Given the description of an element on the screen output the (x, y) to click on. 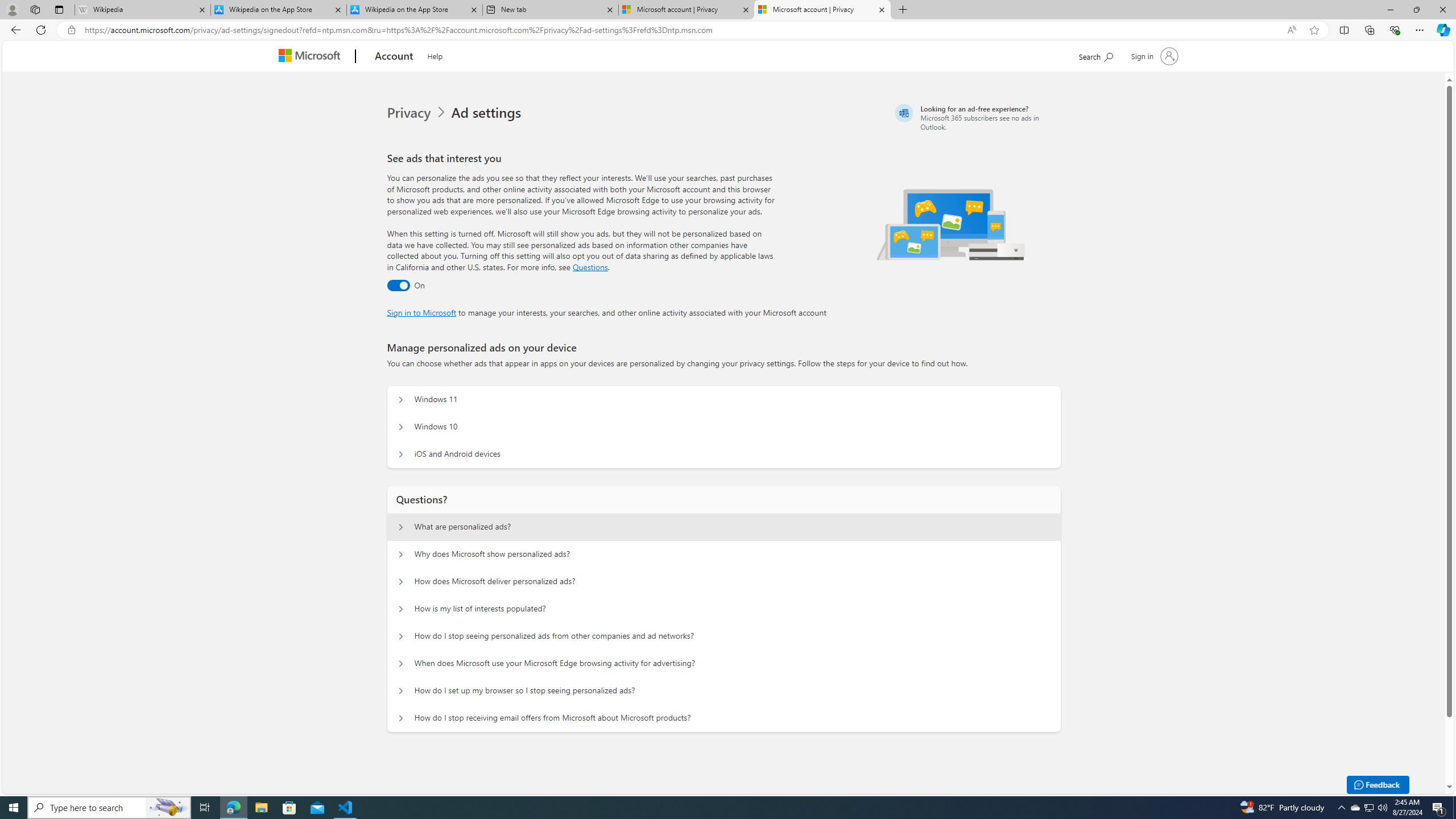
Manage personalized ads on your device Windows 11 (401, 400)
Go to Questions section (590, 266)
Ad settings (488, 112)
Illustration of multiple devices (951, 224)
